Given the description of an element on the screen output the (x, y) to click on. 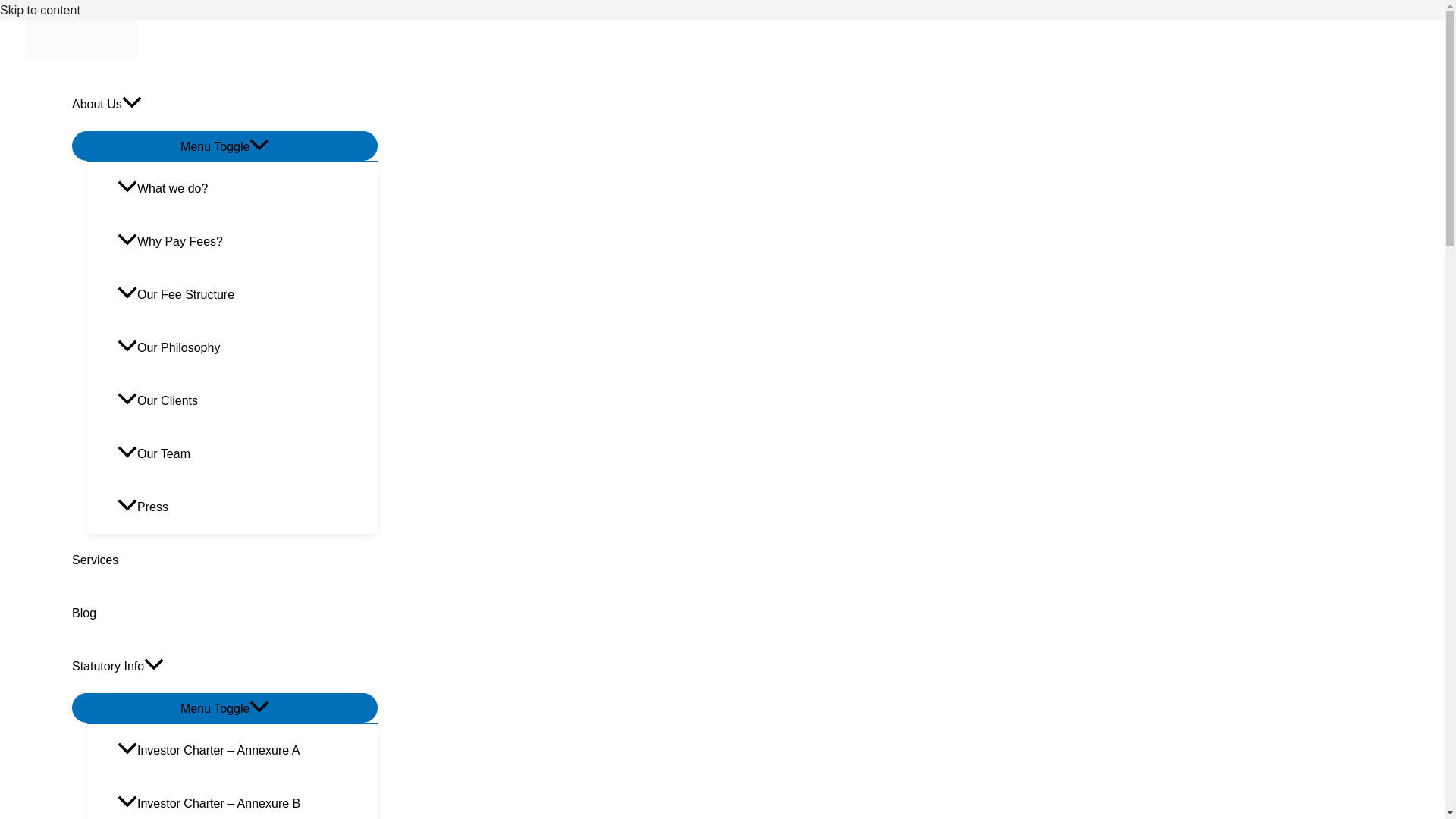
Our Clients (247, 400)
What we do? (247, 188)
Menu Toggle (224, 707)
Press (247, 506)
Our Team (247, 453)
Why Pay Fees? (247, 241)
Our Fee Structure (247, 294)
Skip to content (40, 10)
Skip to content (40, 10)
Services (224, 560)
About Us (224, 104)
Statutory Info (224, 665)
Menu Toggle (224, 145)
Our Philosophy (247, 347)
Blog (224, 613)
